Given the description of an element on the screen output the (x, y) to click on. 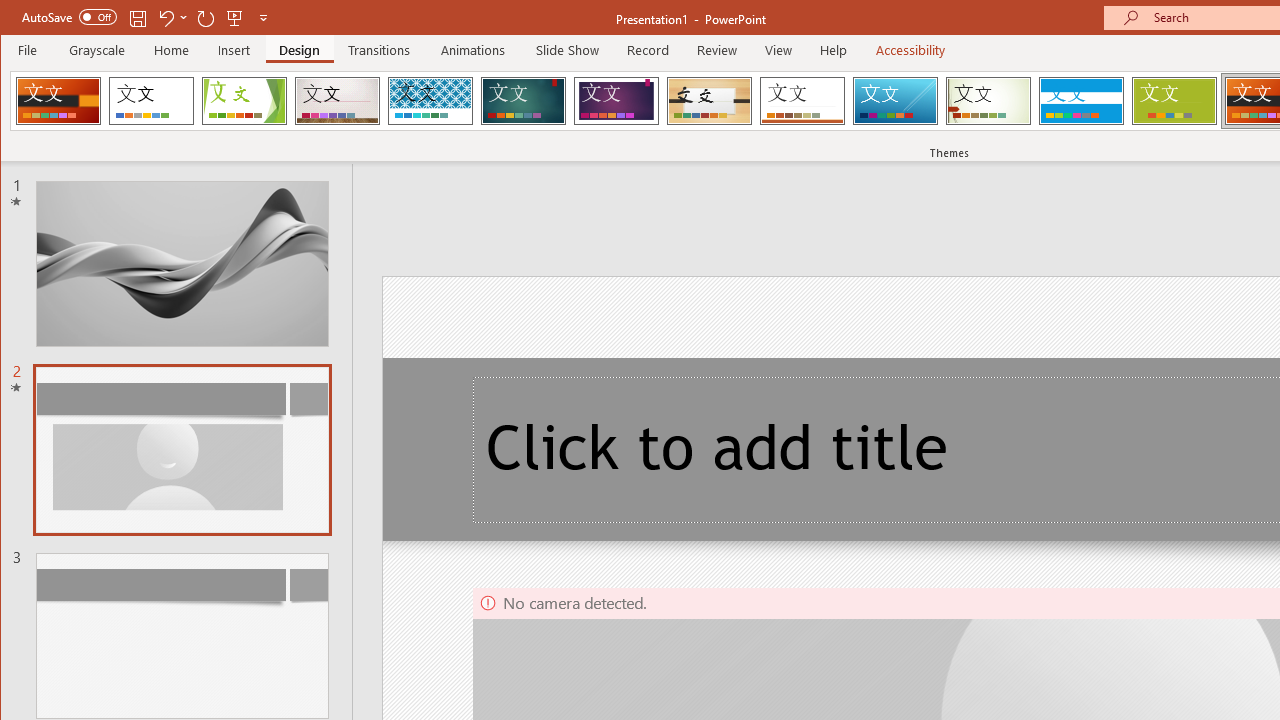
Wisp (988, 100)
Ion (523, 100)
